Given the description of an element on the screen output the (x, y) to click on. 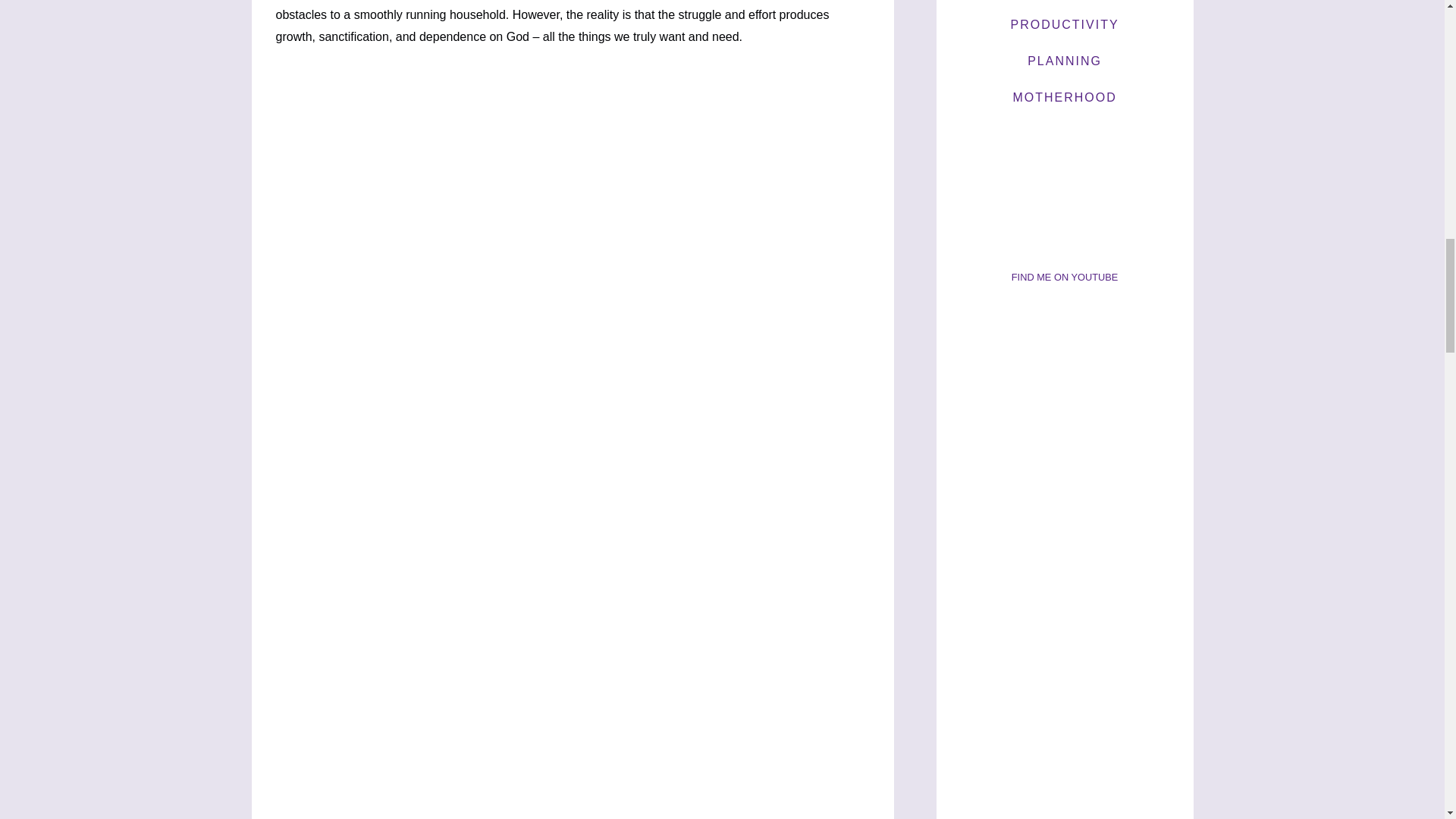
Habits of a Smart Homemaker (1064, 203)
